Given the description of an element on the screen output the (x, y) to click on. 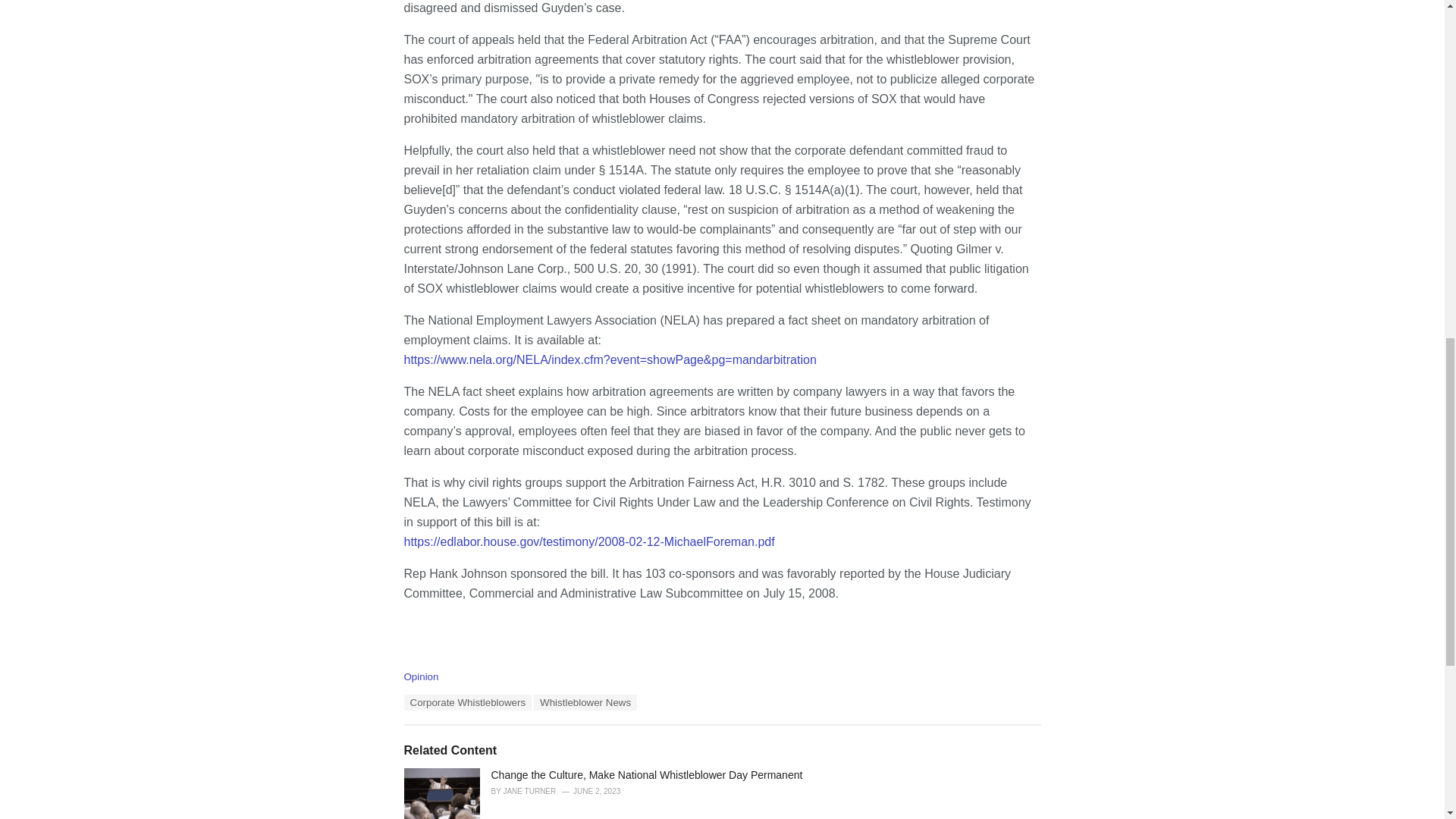
Opinion (420, 676)
Corporate Whistleblowers (467, 702)
Whistleblower News (585, 702)
